Given the description of an element on the screen output the (x, y) to click on. 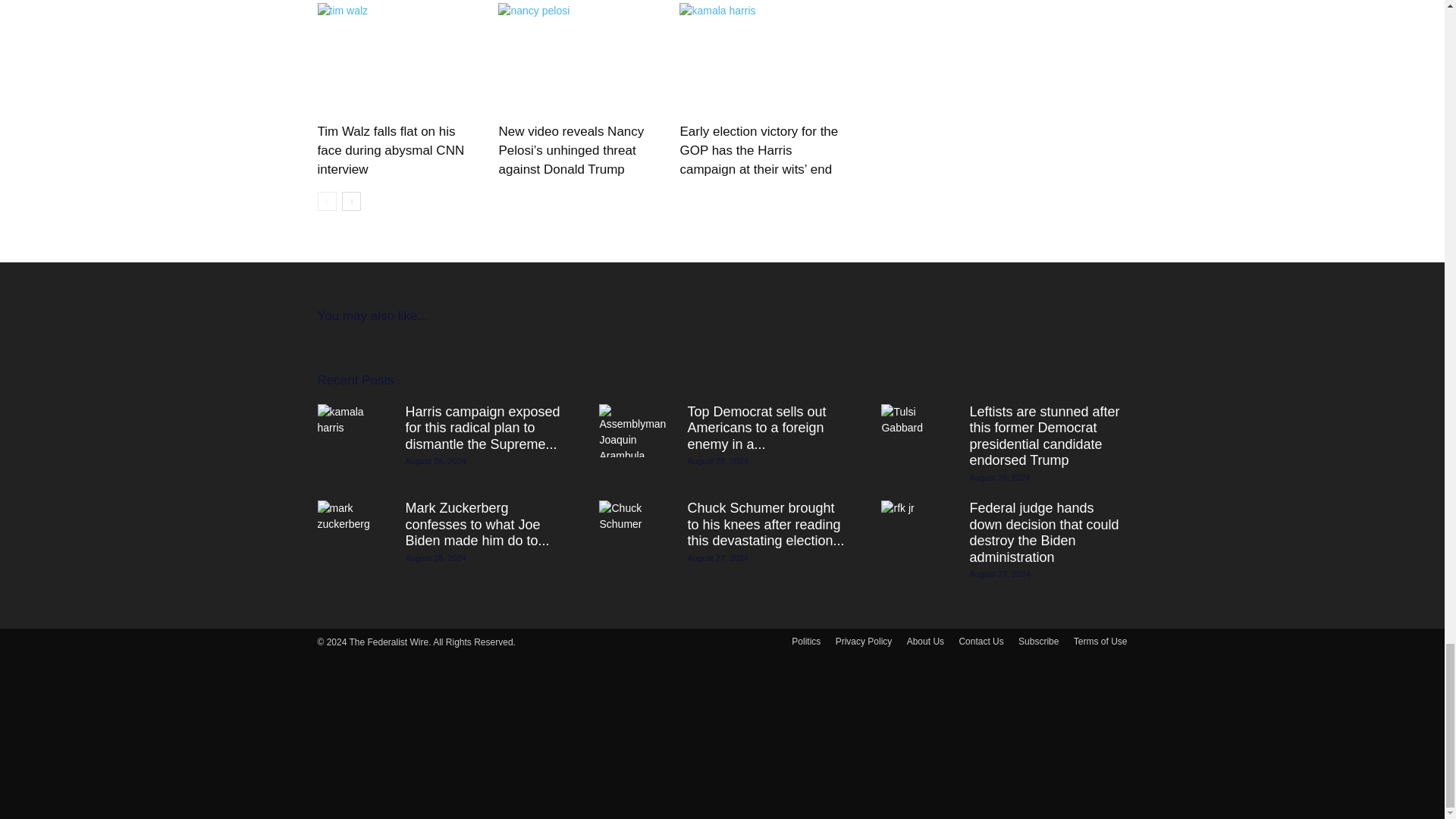
Tim Walz falls flat on his face during abysmal CNN interview (390, 150)
Tim Walz falls flat on his face during abysmal CNN interview (390, 150)
Tim Walz falls flat on his face during abysmal CNN interview (399, 60)
